Given the description of an element on the screen output the (x, y) to click on. 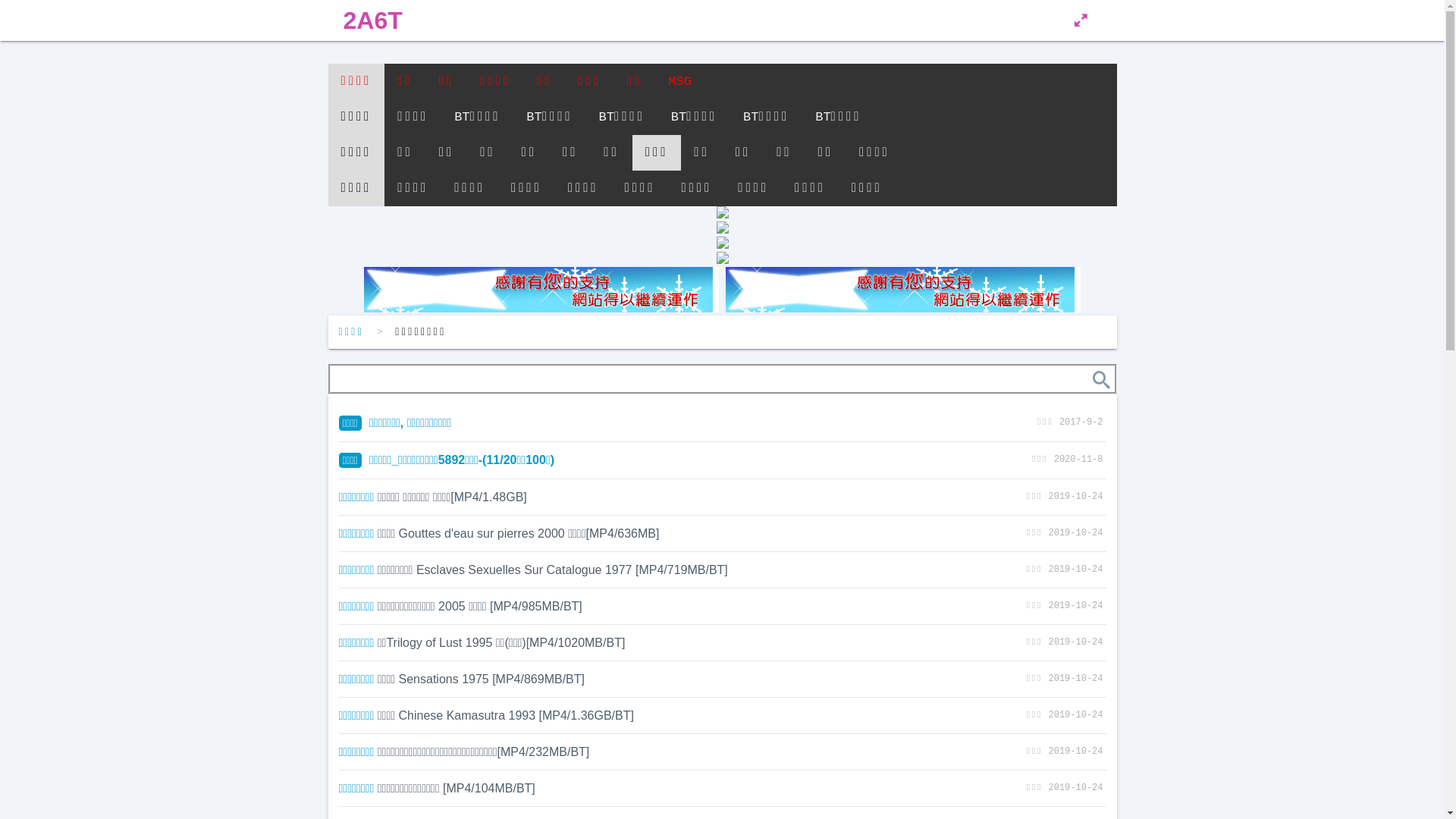
2A6T Element type: text (372, 20)
MSG Element type: text (679, 81)
